Given the description of an element on the screen output the (x, y) to click on. 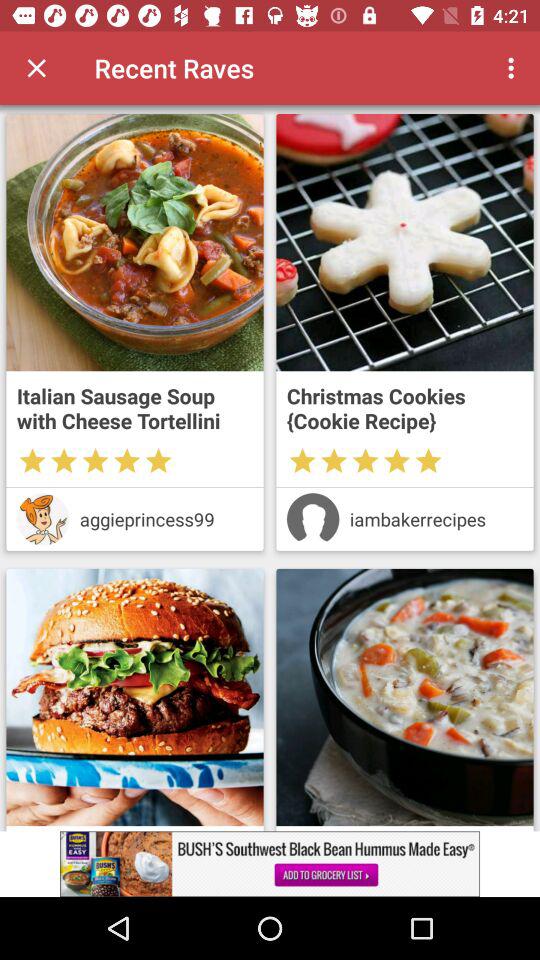
close option (36, 68)
